Given the description of an element on the screen output the (x, y) to click on. 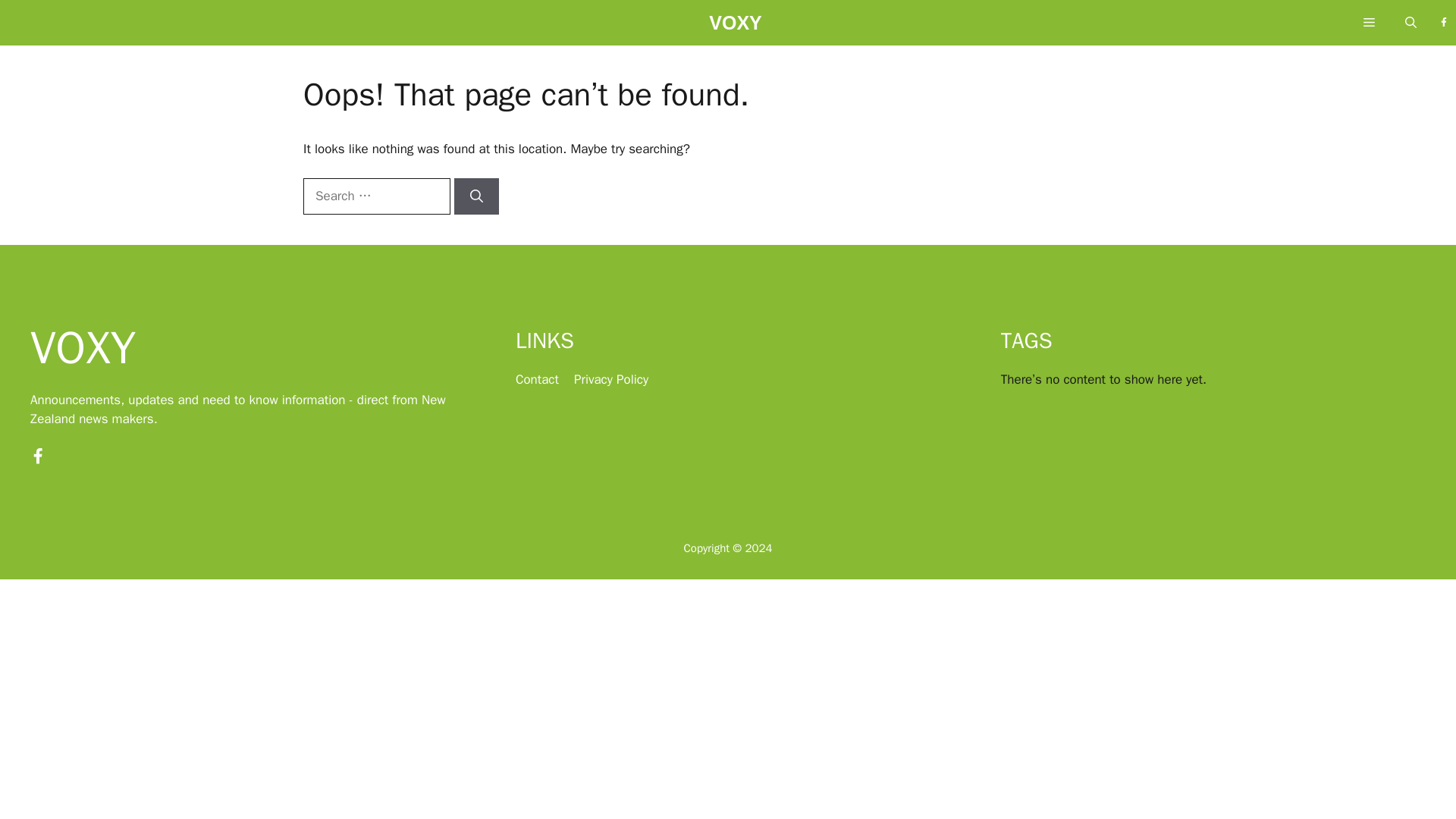
Search for: (375, 196)
VOXY (735, 26)
Privacy Policy (610, 379)
Contact (537, 379)
